Given the description of an element on the screen output the (x, y) to click on. 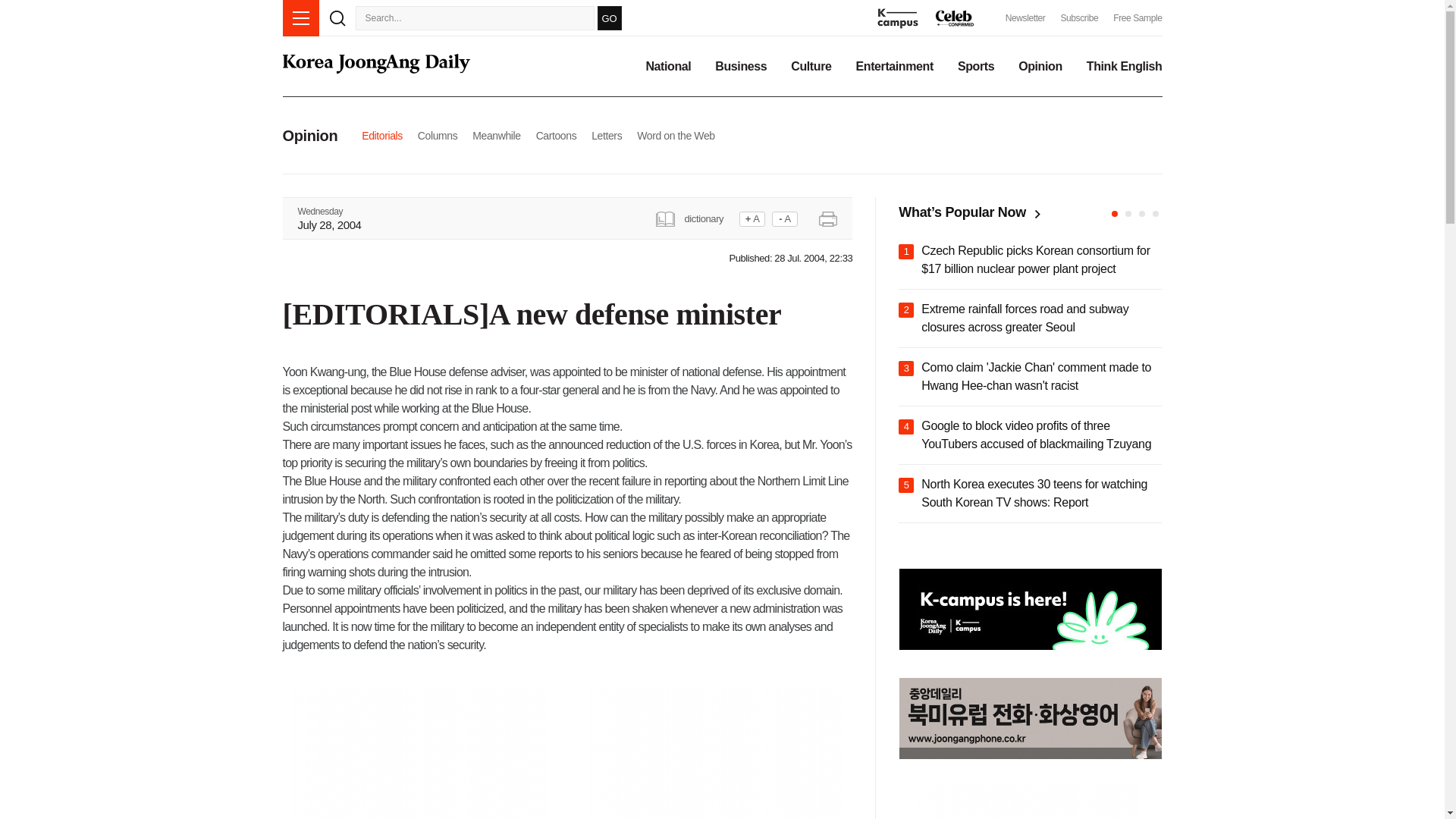
Entertainment (894, 66)
Free Sample (1137, 18)
Editorials (382, 135)
Meanwhile (495, 135)
Culture (810, 66)
Letters (606, 135)
Columns (437, 135)
Columns (437, 135)
Sports (976, 66)
Newsletter (1025, 18)
Cartoons (555, 135)
Word on the Web (675, 135)
GO (608, 17)
National (667, 66)
Opinion (1039, 66)
